Given the description of an element on the screen output the (x, y) to click on. 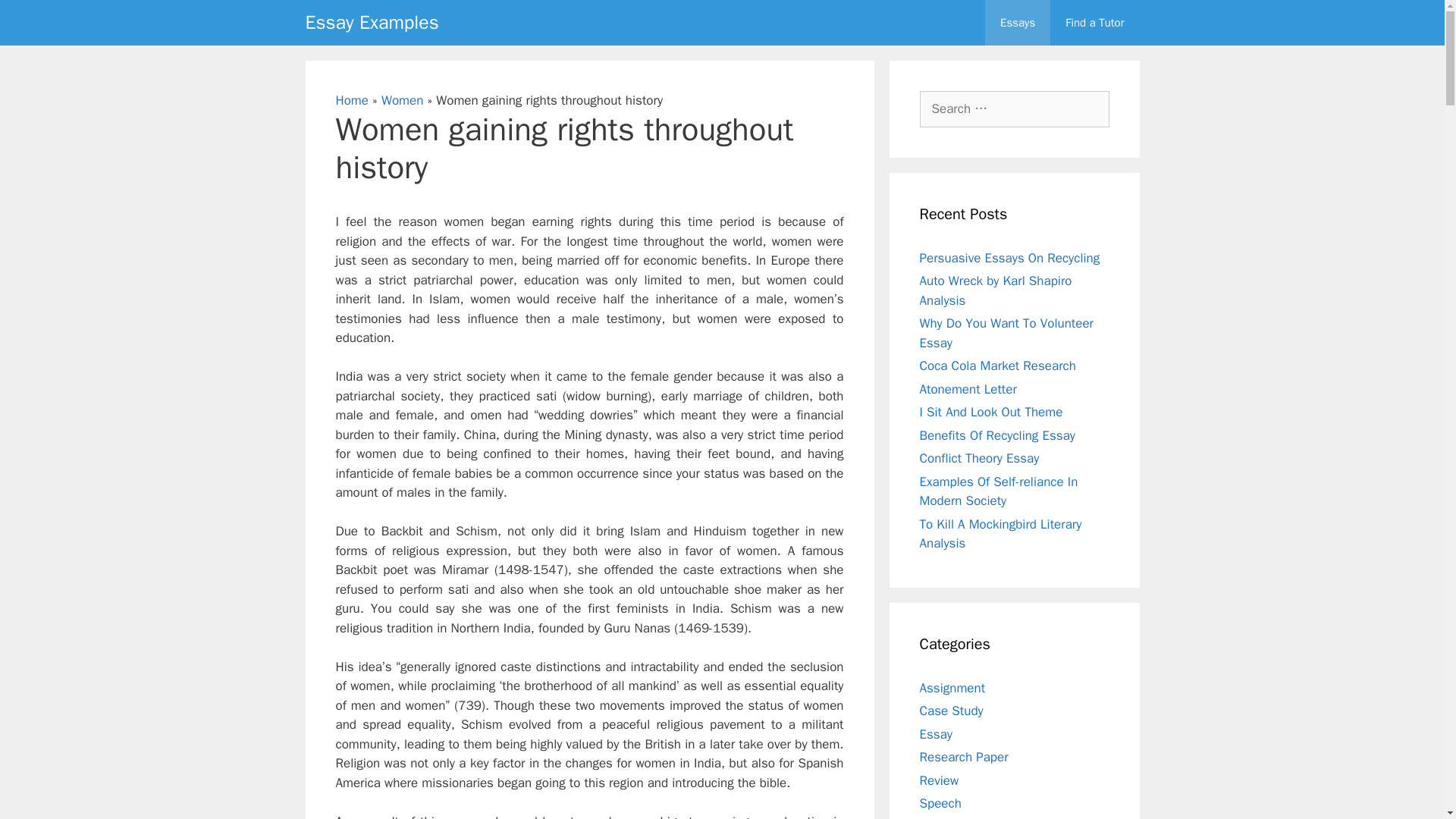
Essay Examples (371, 22)
Home (351, 100)
Women (402, 100)
Find a Tutor (1093, 22)
Search for: (1013, 108)
Essays (1017, 22)
